Given the description of an element on the screen output the (x, y) to click on. 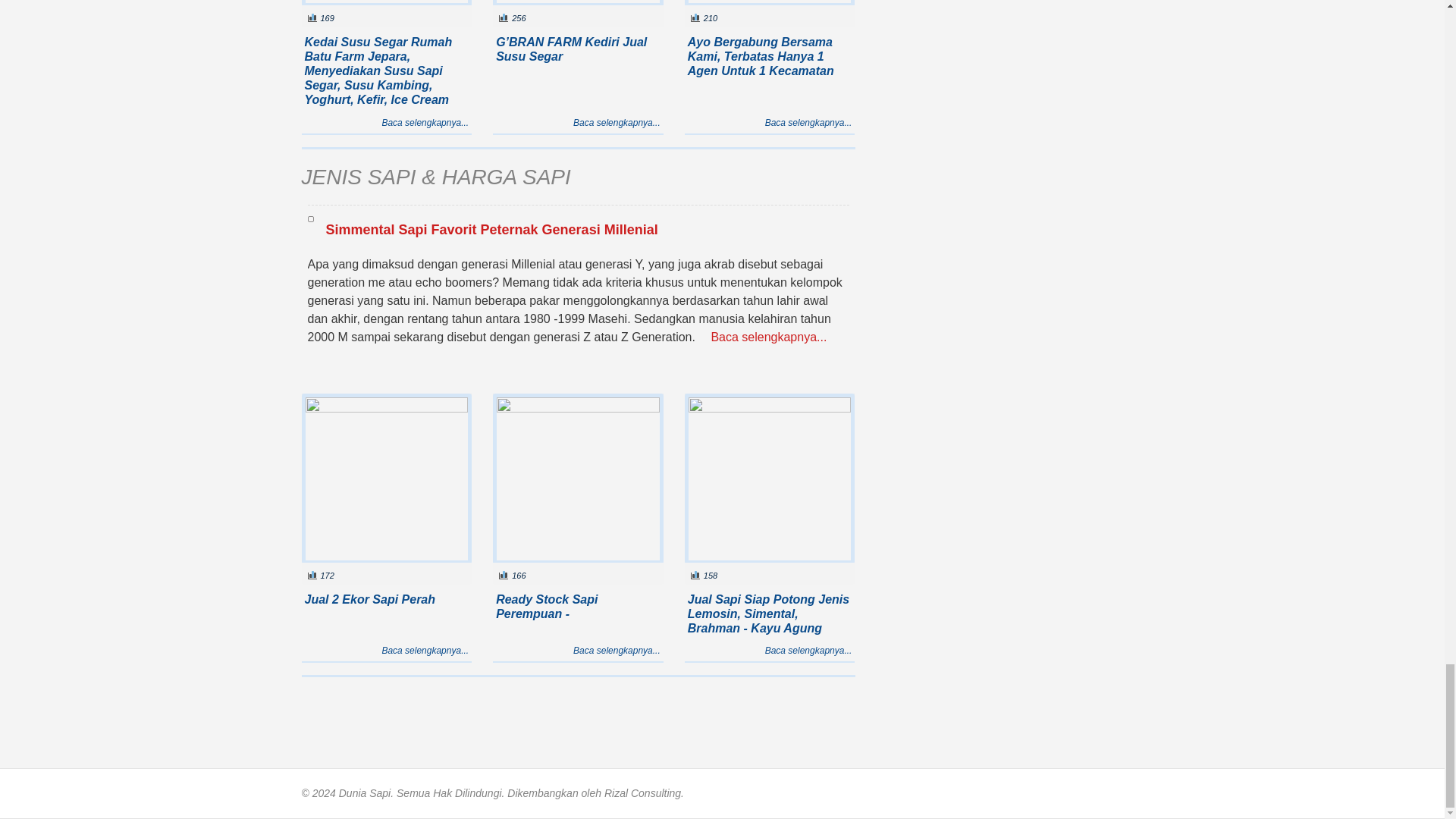
Baca selengkapnya... (616, 122)
Ready Stock Sapi Perempuan - (578, 478)
Baca selengkapnya... (808, 122)
Baca selengkapnya... (424, 122)
Simmental Sapi Favorit Peternak Generasi Millenial (310, 218)
Jual 2 Ekor Sapi Perah (386, 478)
